Given the description of an element on the screen output the (x, y) to click on. 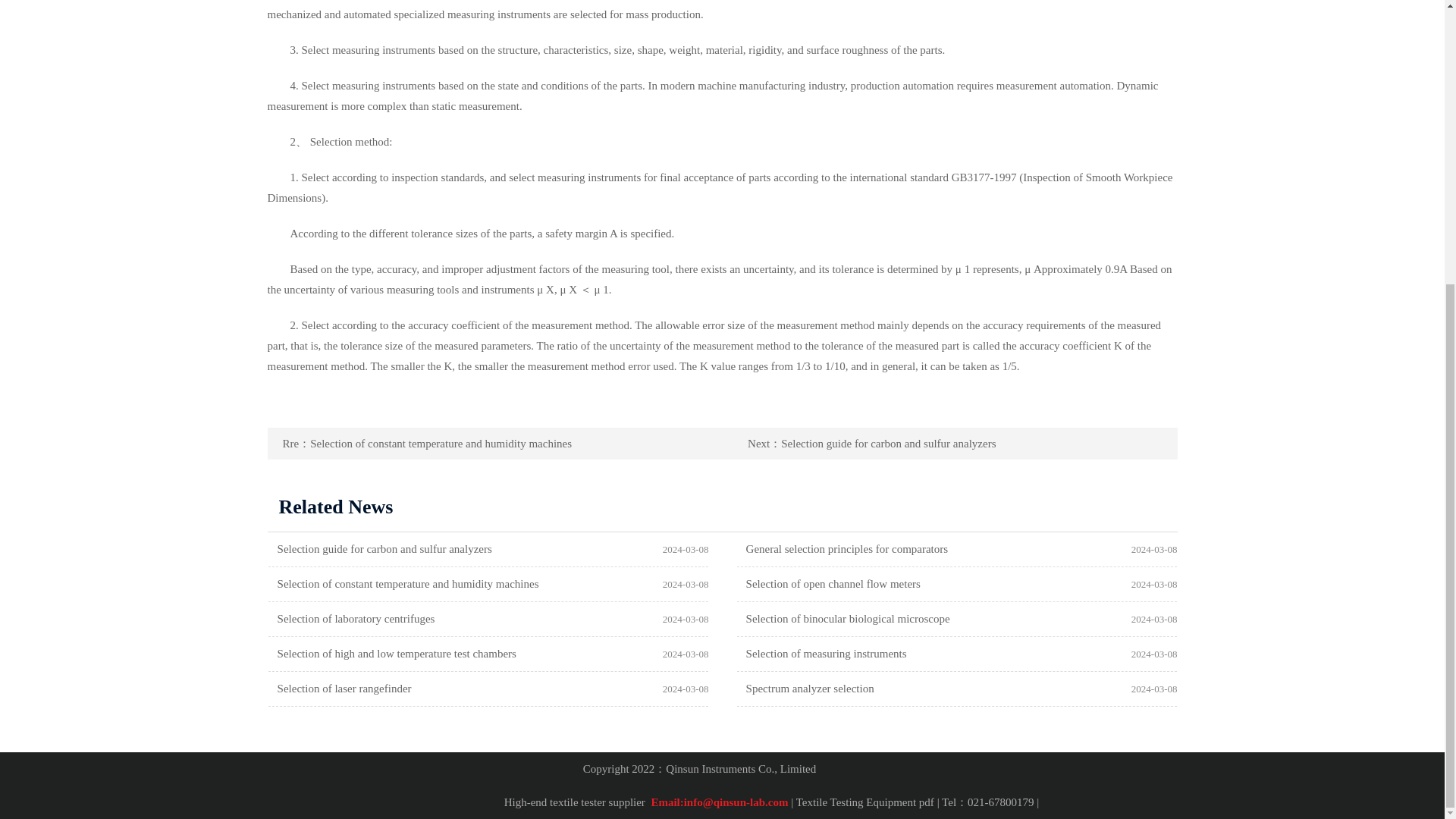
Selection guide for carbon and sulfur analyzers (871, 443)
Selection of constant temperature and humidity machines (427, 443)
